Given the description of an element on the screen output the (x, y) to click on. 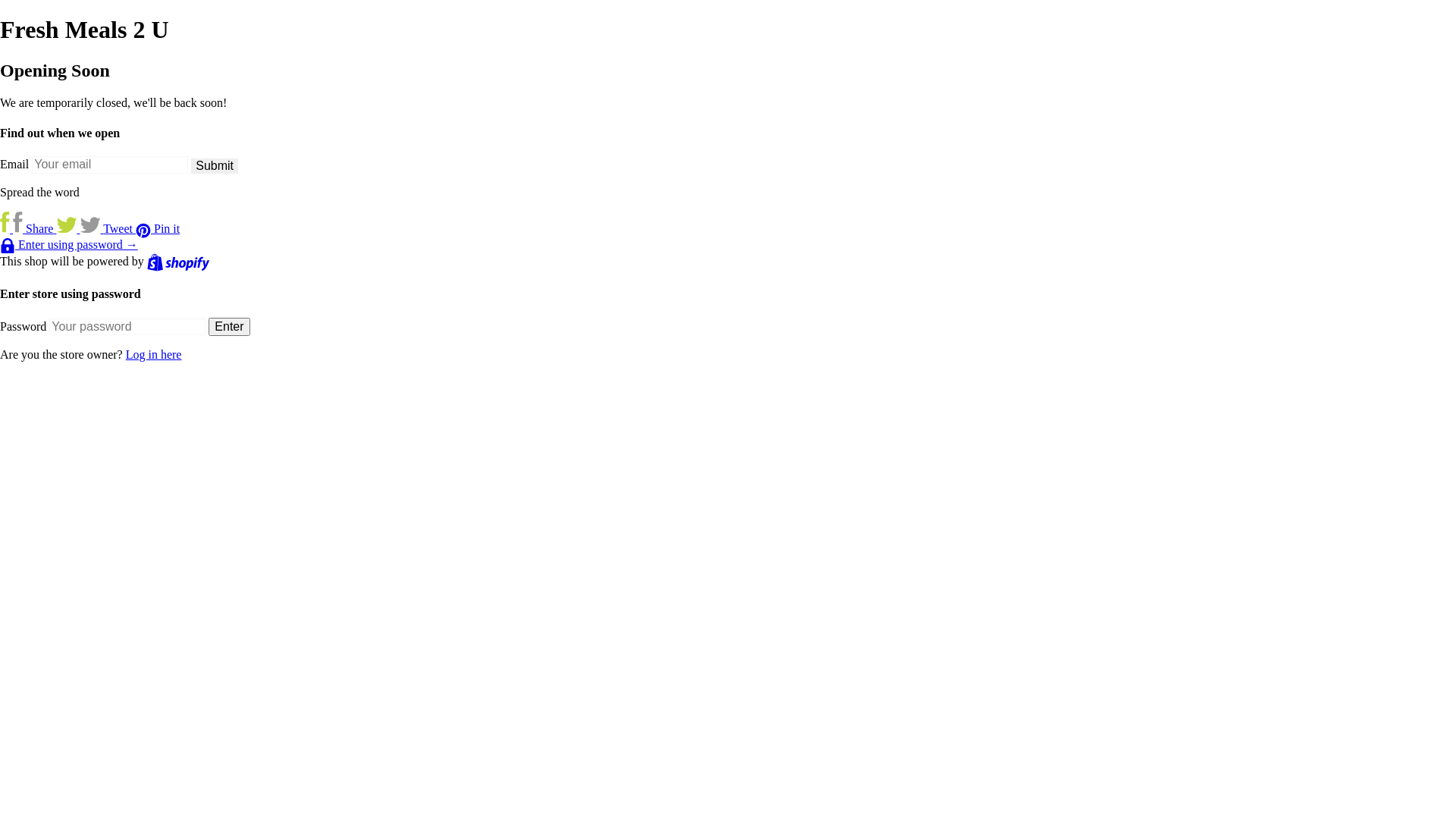
Share
Share on Facebook Element type: text (28, 228)
Shopify Element type: text (178, 260)
Tweet
Tweet on Twitter Element type: text (95, 228)
Submit Element type: text (214, 165)
Log in here Element type: text (153, 354)
Enter Element type: text (228, 326)
Pin it
Pin on Pinterest Element type: text (157, 228)
